Given the description of an element on the screen output the (x, y) to click on. 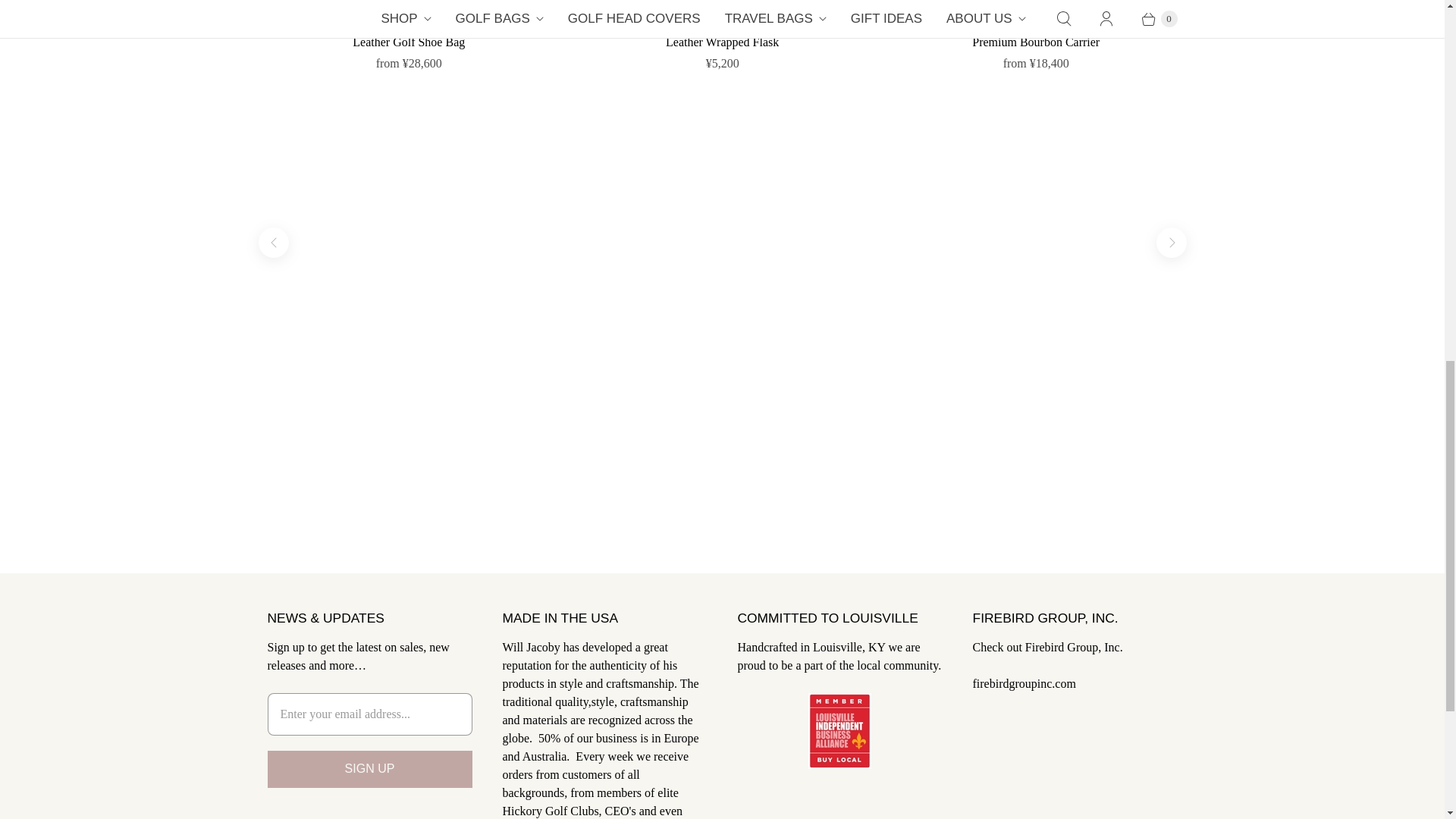
Keep Louisville Weird (839, 764)
Sign Up (368, 769)
